Given the description of an element on the screen output the (x, y) to click on. 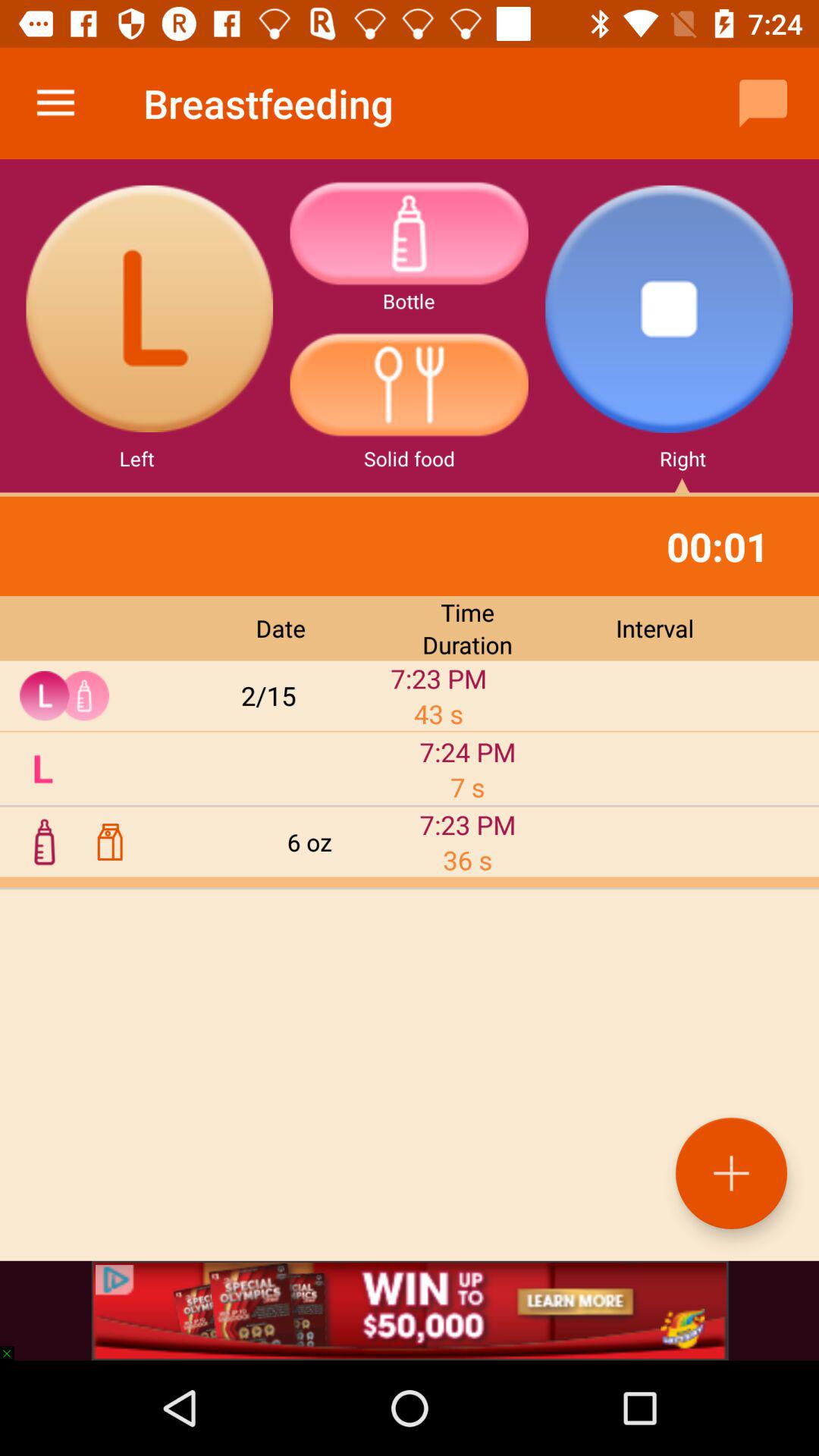
choose the item at the bottom right corner (731, 1173)
